Given the description of an element on the screen output the (x, y) to click on. 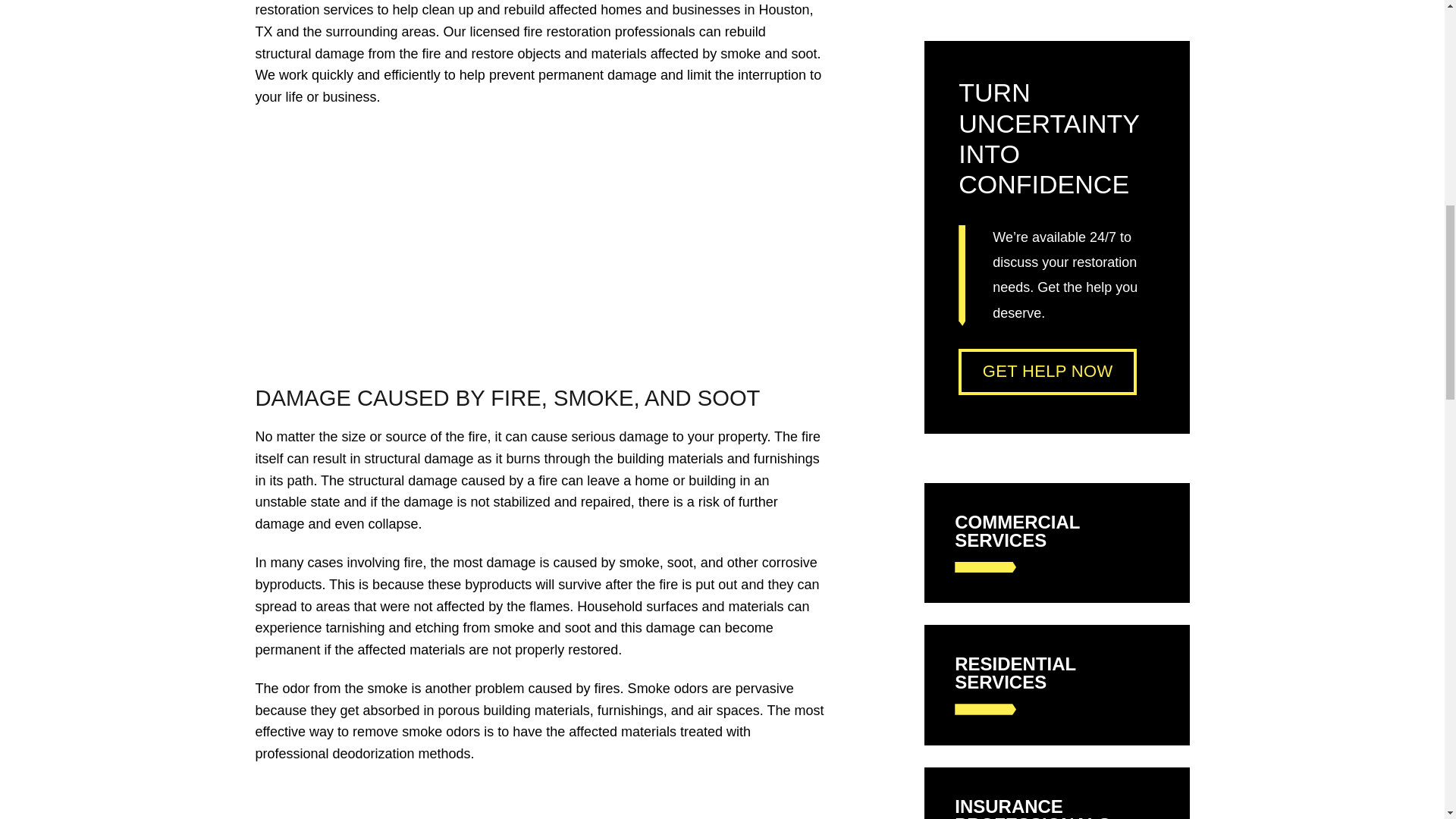
YouTube video player (466, 244)
YouTube video player (466, 800)
